Given the description of an element on the screen output the (x, y) to click on. 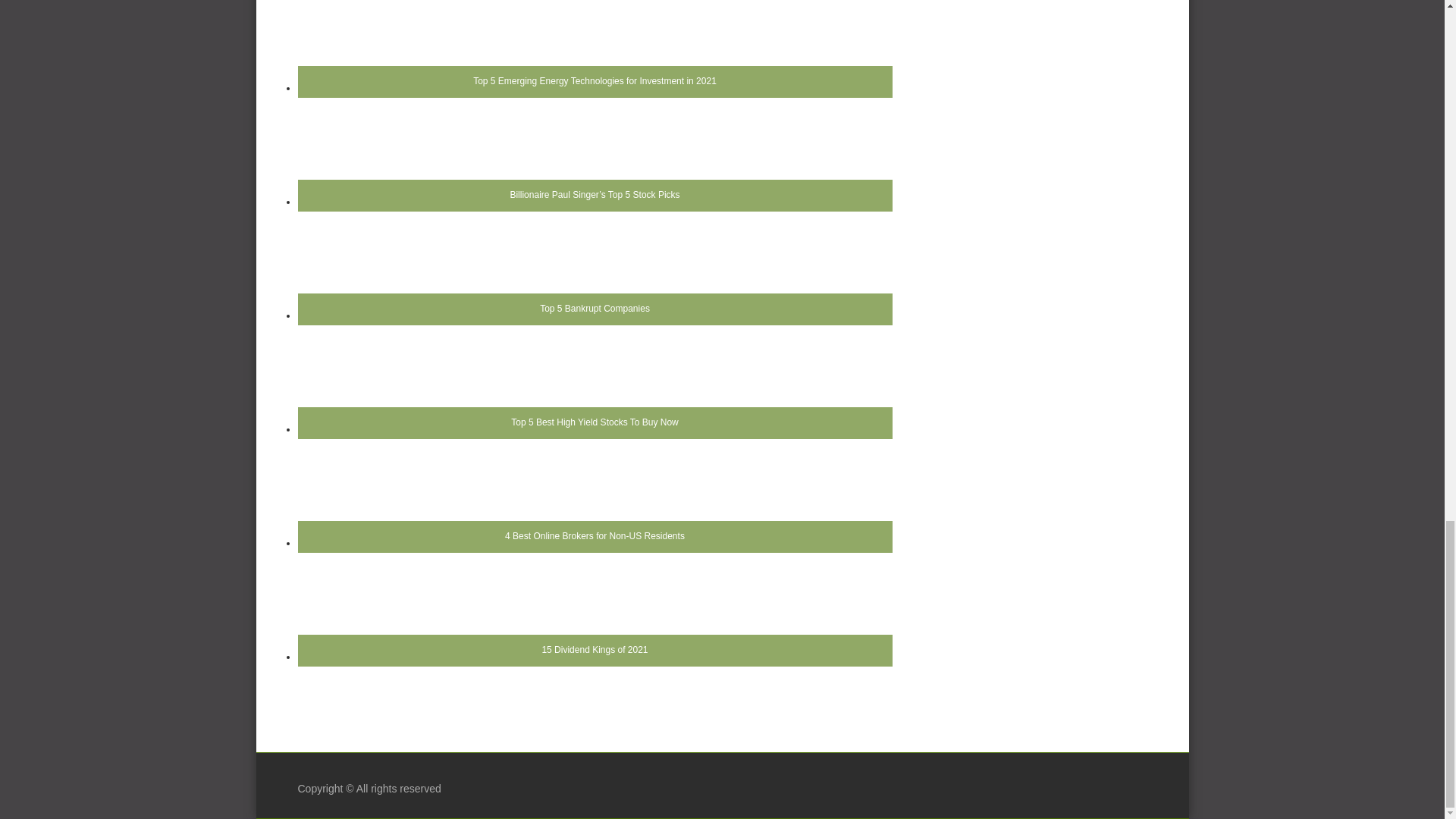
15 Dividend Kings of 2021 (594, 619)
Top 5 Bankrupt Companies (594, 277)
Top 5 Emerging Energy Technologies for Investment in 2021 (594, 53)
Top 5 Best High Yield Stocks To Buy Now (594, 391)
4 Best Online Brokers for Non-US Residents (594, 505)
